Given the description of an element on the screen output the (x, y) to click on. 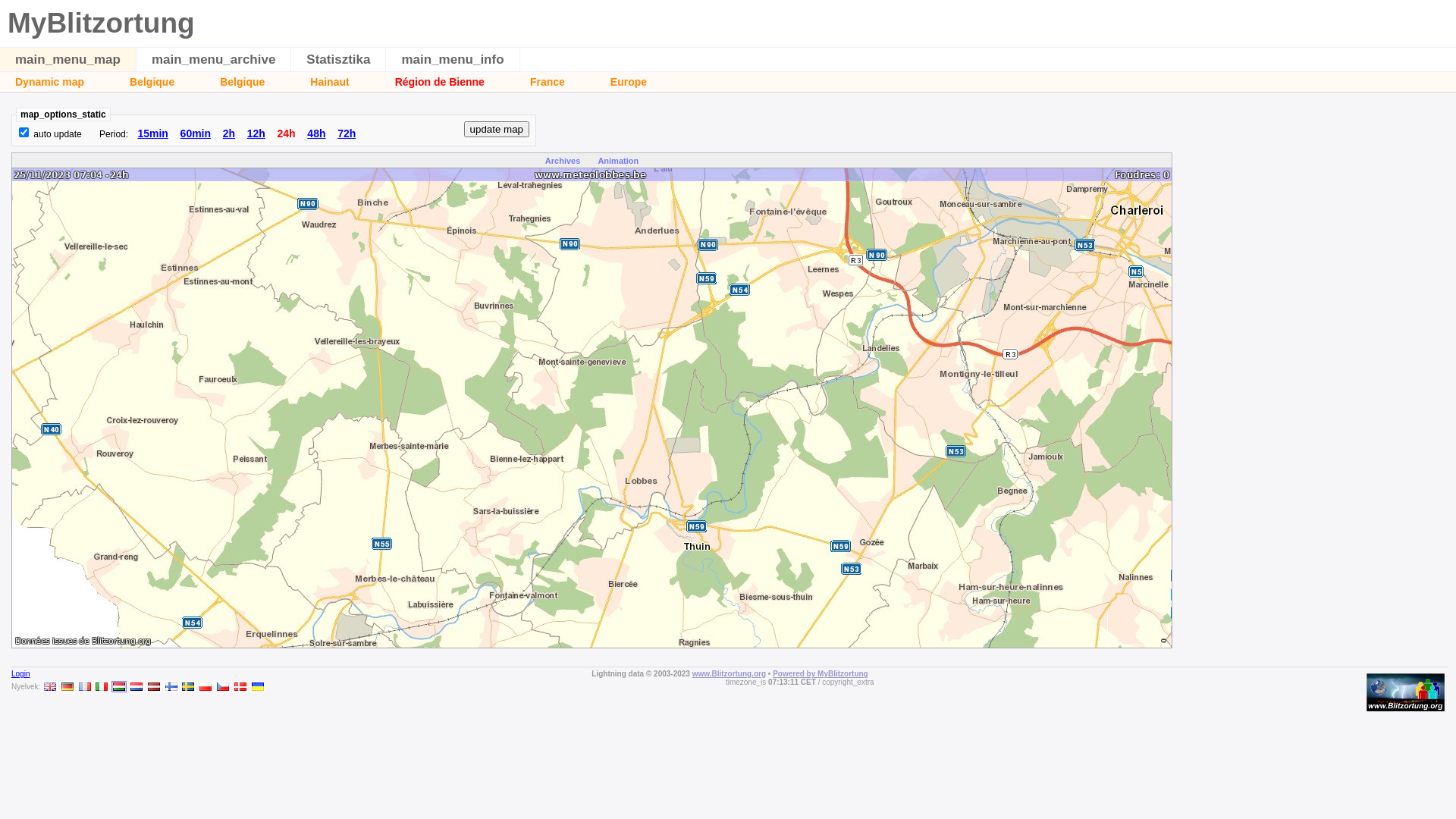
lv Element type: hover (153, 686)
Archives Element type: text (562, 160)
it Element type: hover (101, 686)
Europe Element type: text (628, 81)
cz Element type: hover (222, 686)
main_menu_info Element type: text (451, 59)
48h Element type: text (316, 133)
2h Element type: text (228, 133)
it Element type: hover (101, 686)
60min Element type: text (195, 133)
update map Element type: text (496, 129)
pl Element type: hover (205, 686)
sv Element type: hover (187, 686)
Dynamic map Element type: text (49, 81)
nl Element type: hover (136, 686)
12h Element type: text (256, 133)
on Element type: text (23, 132)
en Element type: hover (49, 686)
en Element type: hover (49, 686)
dk Element type: hover (239, 686)
main_menu_map Element type: text (67, 59)
uk Element type: hover (257, 686)
lv Element type: hover (153, 686)
Belgique Element type: text (241, 81)
pl Element type: hover (205, 686)
Powered by MyBlitzortung Element type: text (820, 673)
fi Element type: hover (170, 686)
uk Element type: hover (257, 686)
www.Blitzortung.org Element type: text (728, 673)
fr Element type: hover (84, 686)
fr Element type: hover (84, 686)
24h Element type: text (286, 133)
de Element type: hover (67, 686)
Statisztika Element type: text (338, 59)
dk Element type: hover (239, 686)
Belgique Element type: text (151, 81)
72h Element type: text (346, 133)
hu Element type: hover (118, 686)
15min Element type: text (152, 133)
Animation Element type: text (617, 160)
Login Element type: text (20, 673)
nl Element type: hover (136, 686)
Hainaut Element type: text (329, 81)
fi Element type: hover (170, 686)
cz Element type: hover (222, 686)
main_menu_archive Element type: text (213, 59)
de Element type: hover (67, 686)
France Element type: text (547, 81)
sv Element type: hover (187, 686)
